Given the description of an element on the screen output the (x, y) to click on. 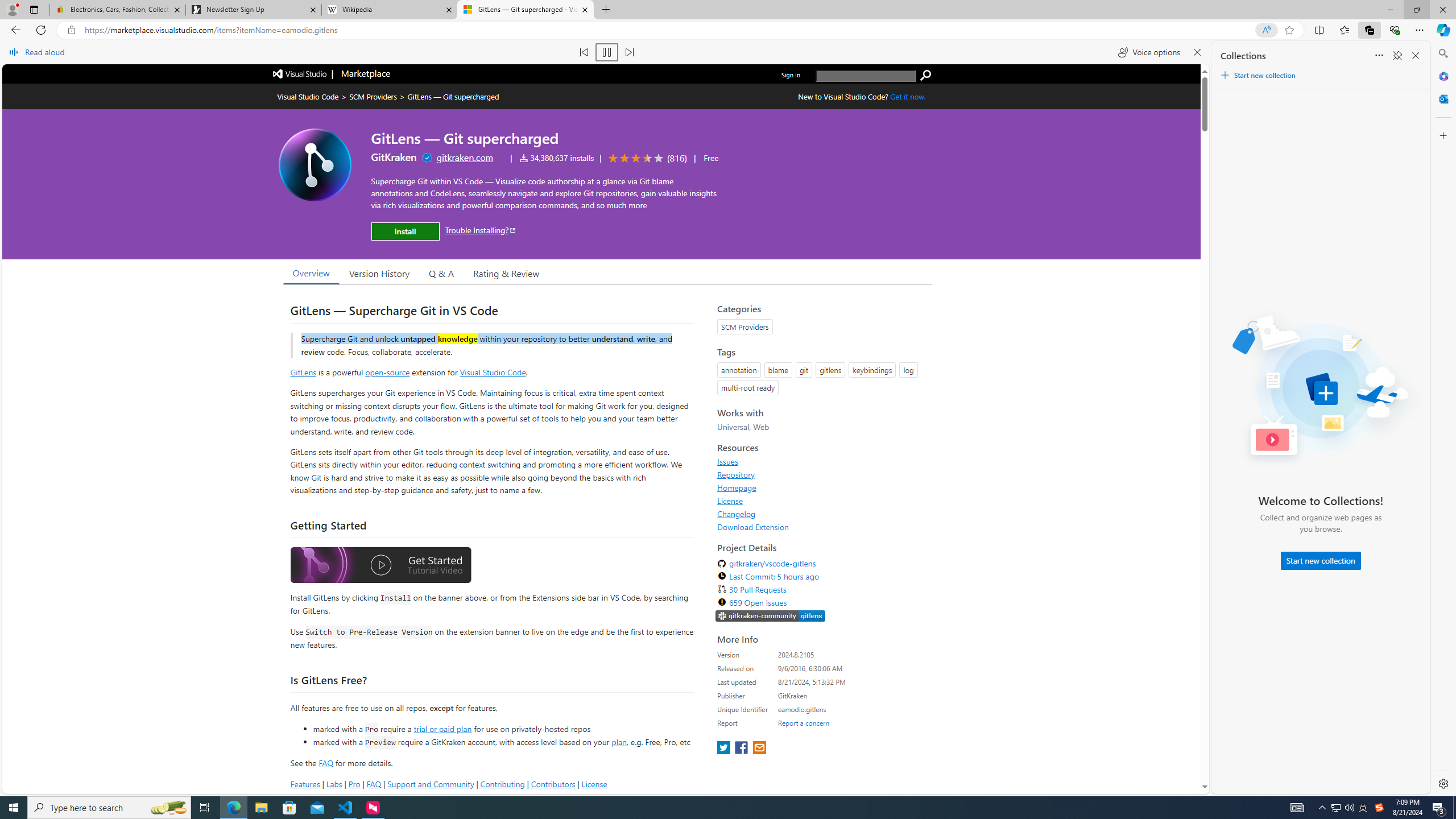
Unpin Collections (1397, 55)
